Given the description of an element on the screen output the (x, y) to click on. 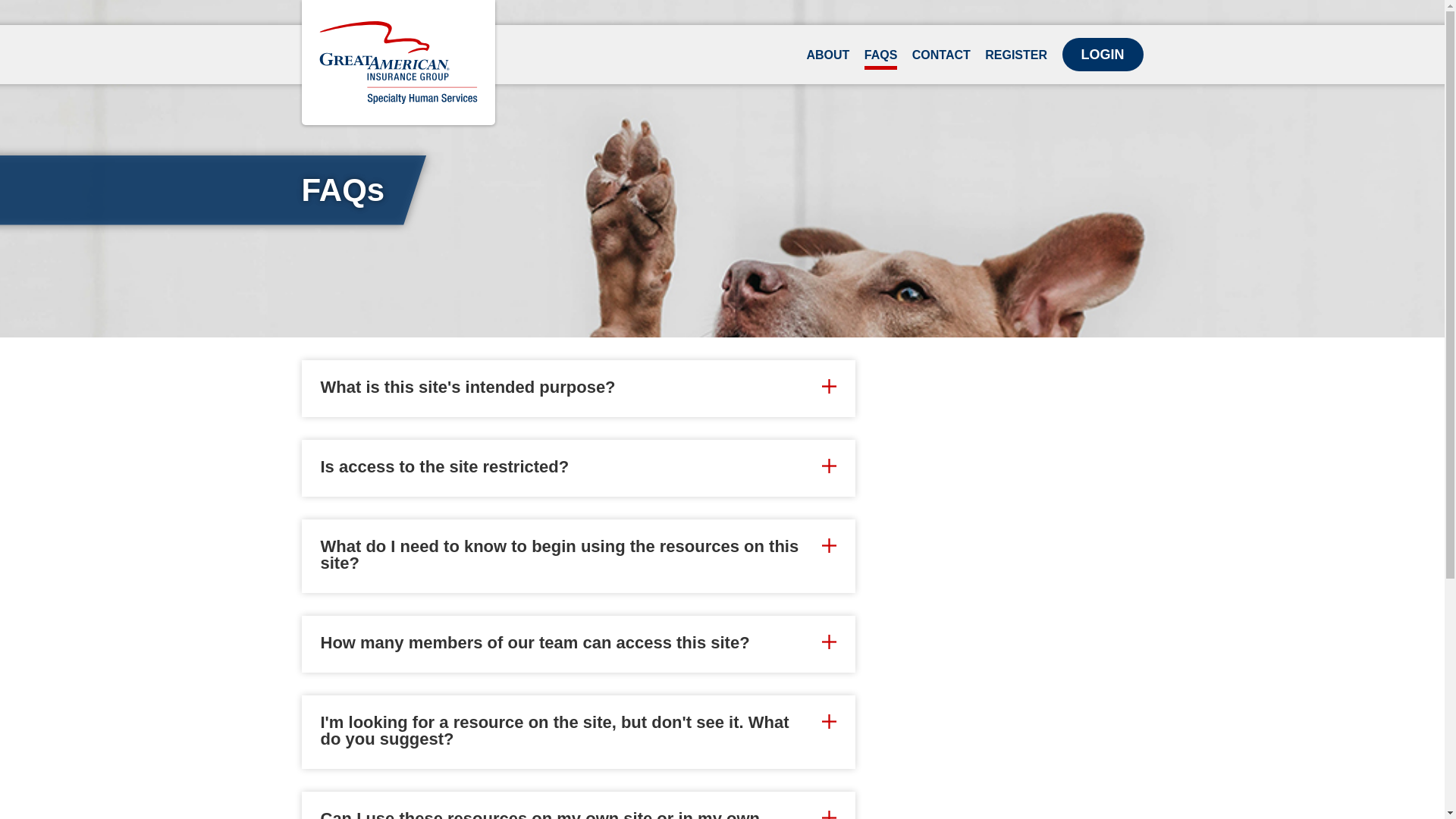
Is access to the site restricted? (577, 466)
ABOUT (827, 59)
REGISTER (1015, 59)
LOGIN (1101, 54)
FAQS (881, 59)
CONTACT (941, 59)
What is this site's intended purpose? (577, 387)
How many members of our team can access this site? (577, 642)
